Given the description of an element on the screen output the (x, y) to click on. 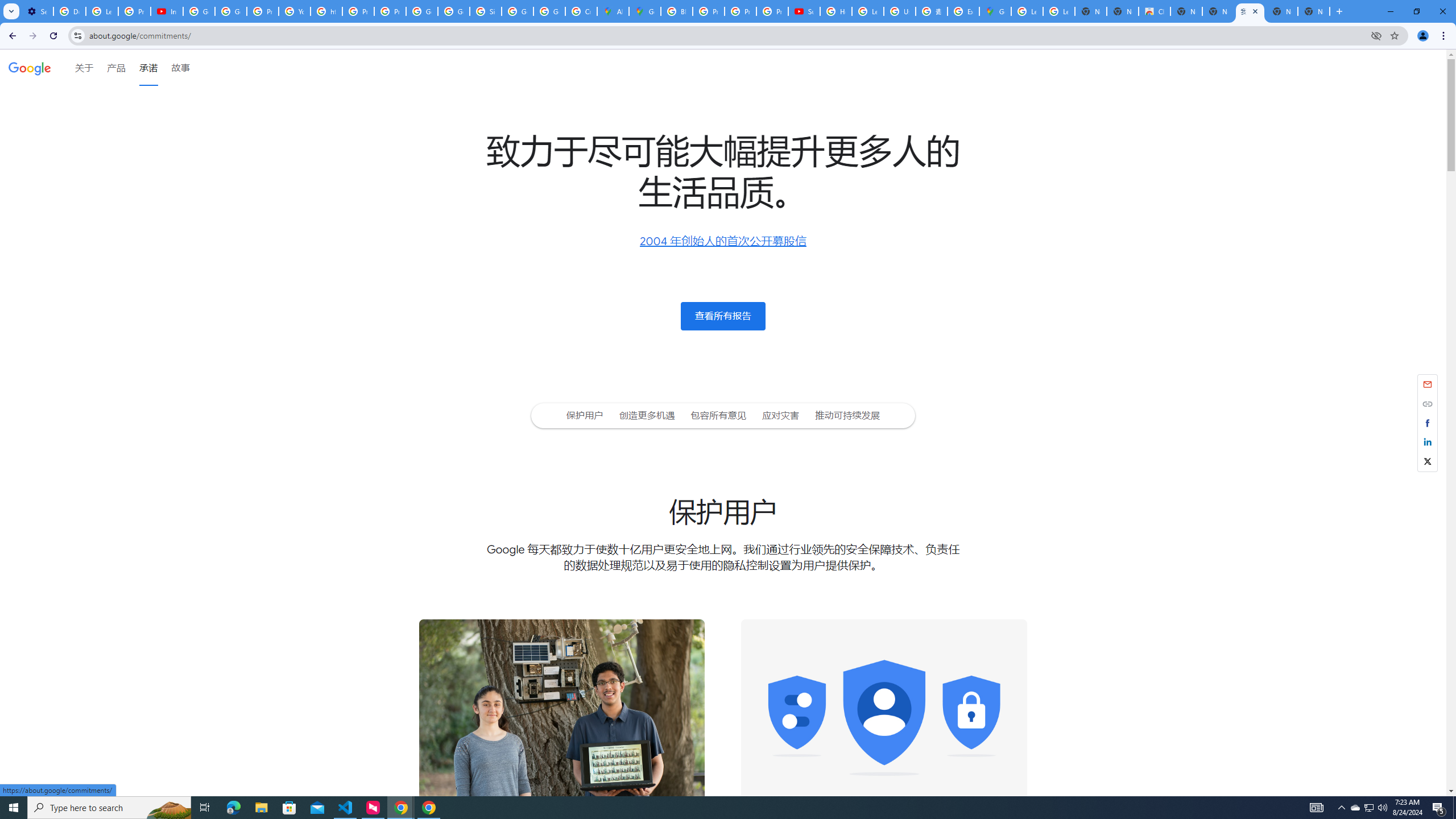
Subscriptions - YouTube (804, 11)
Google Account Help (198, 11)
Google (29, 67)
Google Account Help (230, 11)
Create your Google Account (581, 11)
